Given the description of an element on the screen output the (x, y) to click on. 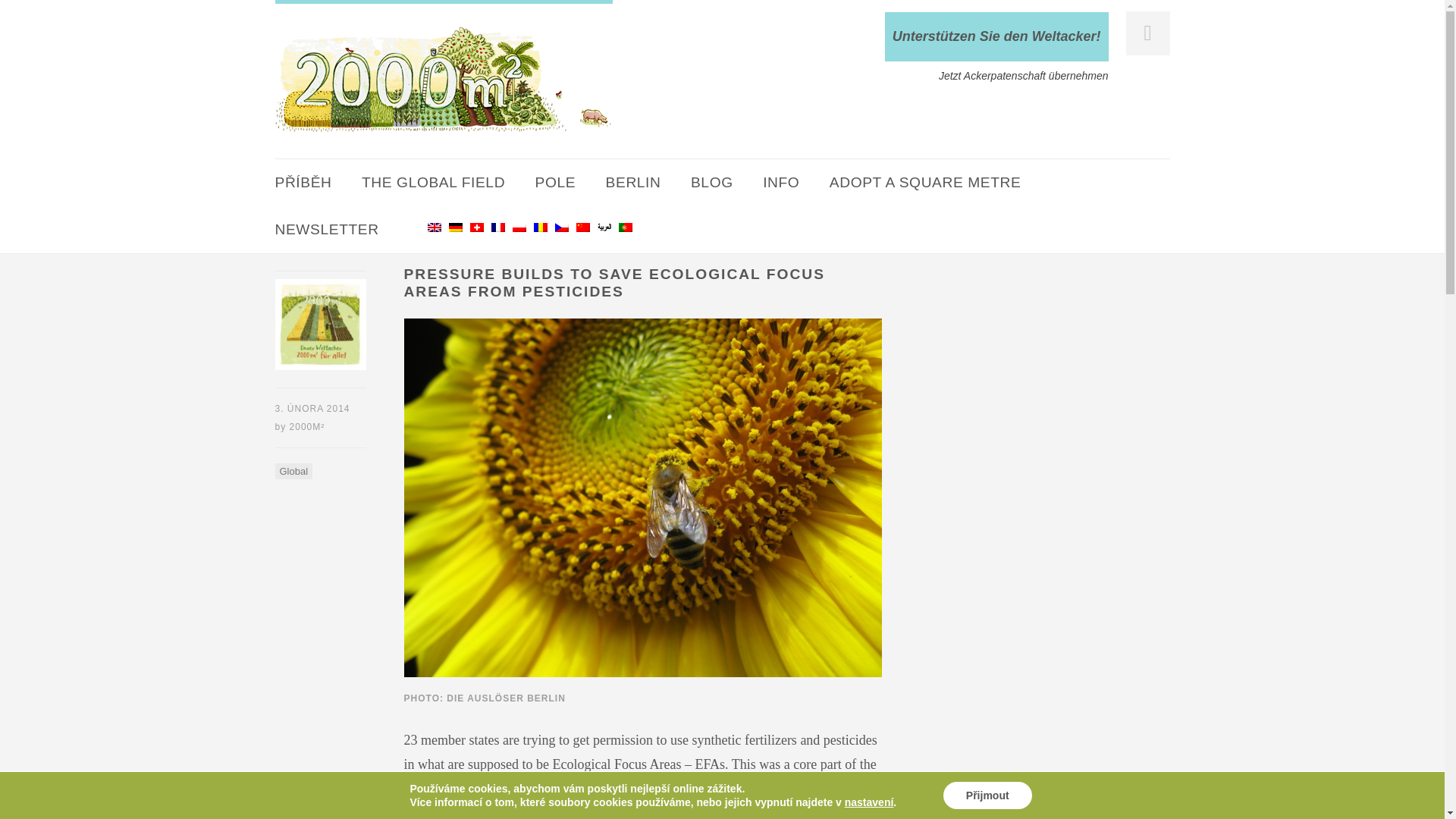
THE GLOBAL FIELD (433, 182)
NEWSLETTER (326, 229)
Search (34, 13)
ADOPT A SQUARE METRE (925, 182)
BLOG (711, 182)
BERLIN (633, 182)
POLE (555, 182)
INFO (780, 182)
